Given the description of an element on the screen output the (x, y) to click on. 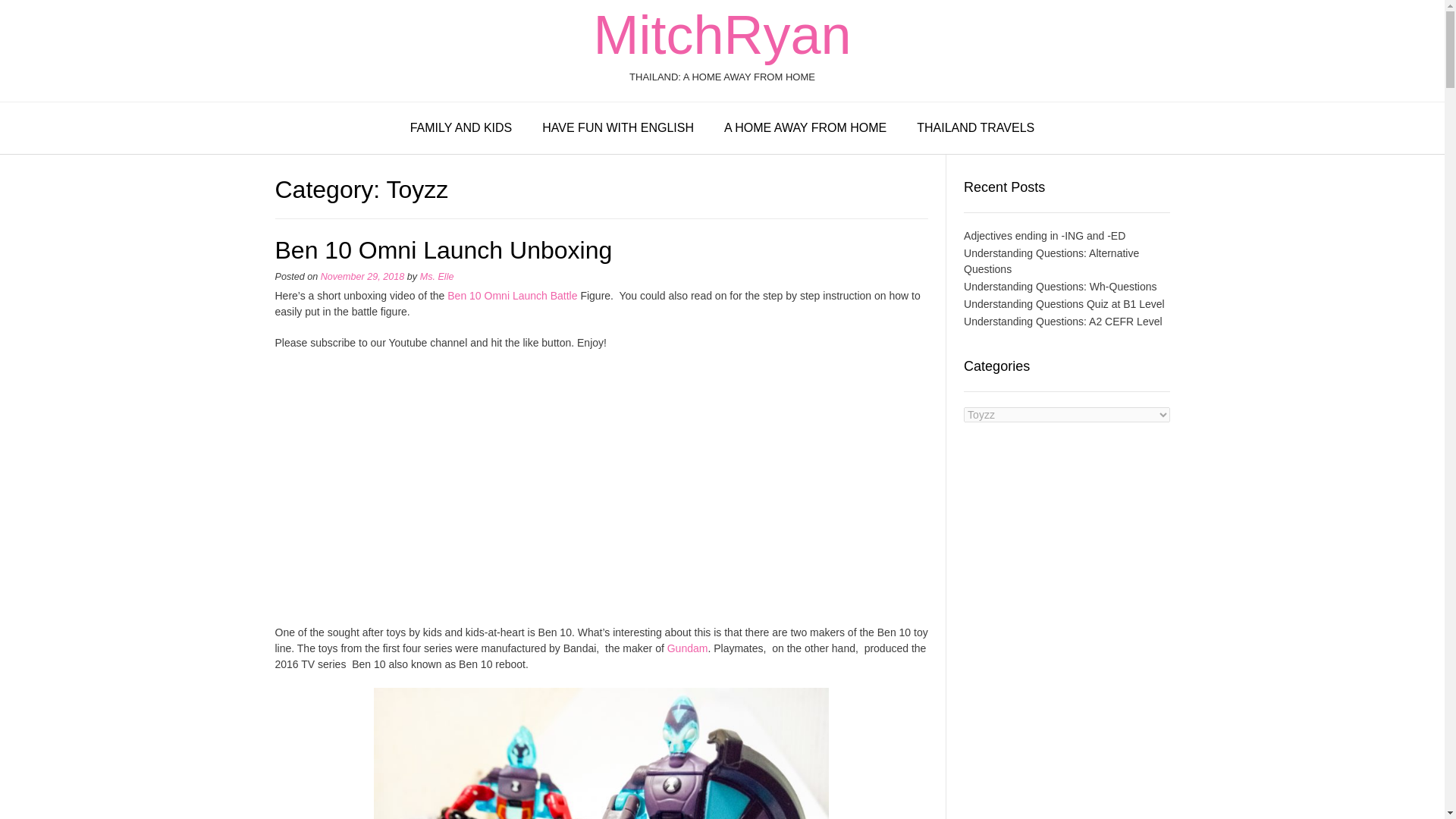
Ms. Elle (437, 276)
Ben 10 (463, 295)
Ben 10 Omni Launch Unboxing (443, 249)
FAMILY AND KIDS (460, 128)
Omni Launch Battle (531, 295)
MitchRyan (721, 34)
Gundam (686, 648)
THAILAND TRAVELS (975, 128)
MitchRyan (721, 34)
A HOME AWAY FROM HOME (805, 128)
